Given the description of an element on the screen output the (x, y) to click on. 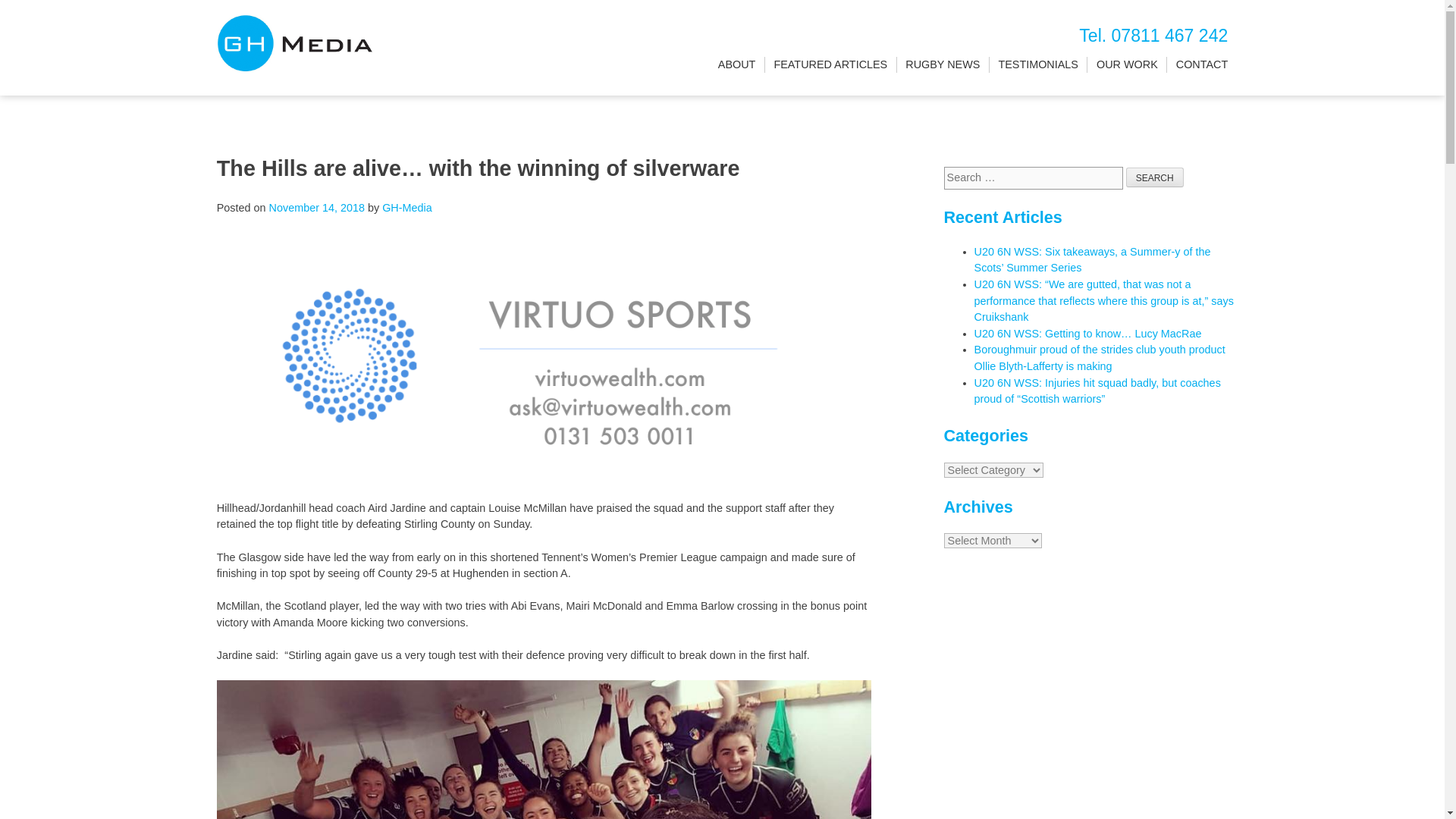
FEATURED ARTICLES (829, 64)
November 14, 2018 (317, 207)
Search (1154, 177)
ABOUT (736, 64)
Search (1154, 177)
OUR WORK (1126, 64)
GH-Media (406, 207)
Search (1154, 177)
CONTACT (1201, 64)
RUGBY NEWS (942, 64)
TESTIMONIALS (1037, 64)
